Given the description of an element on the screen output the (x, y) to click on. 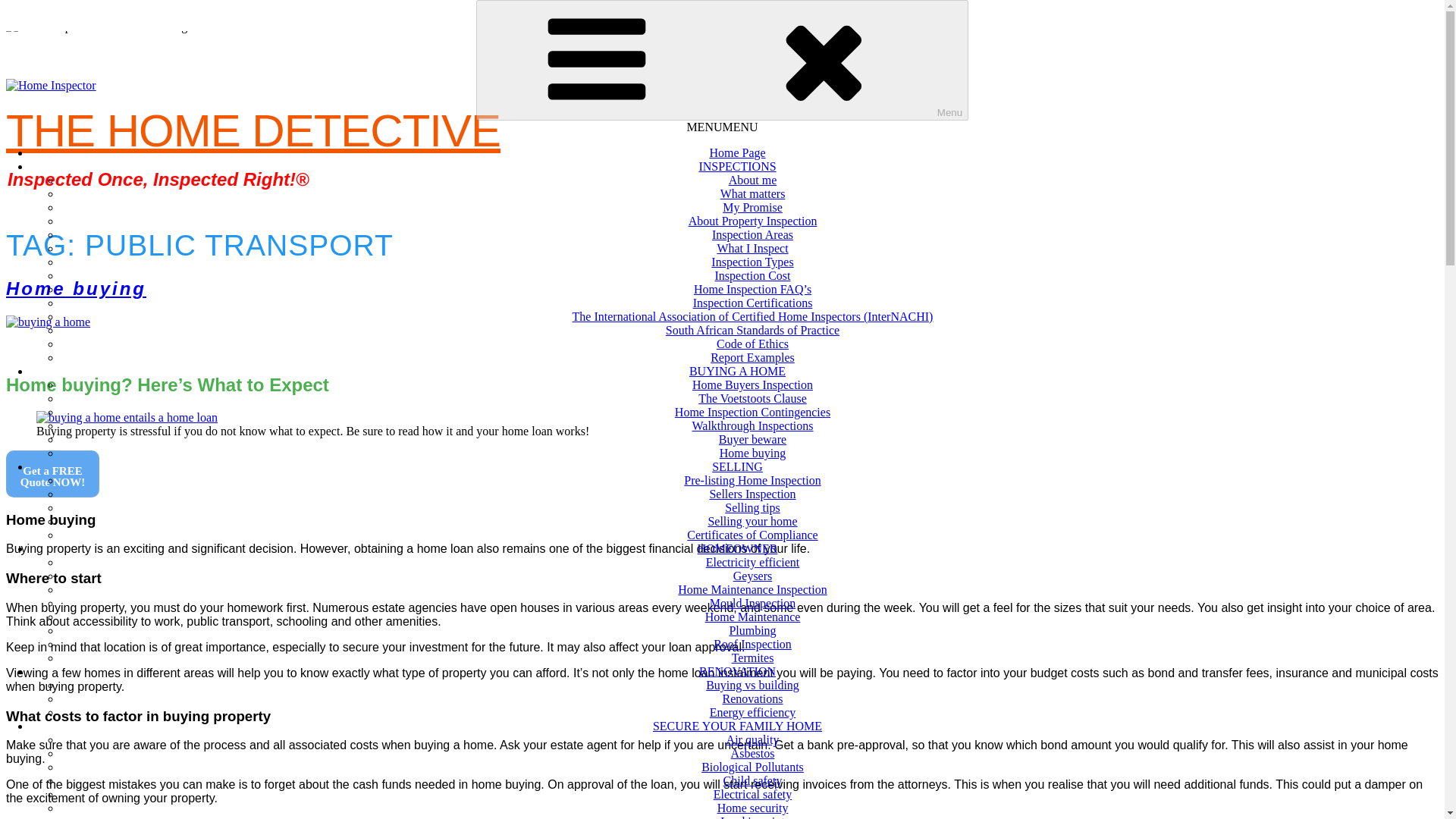
Buyer beware (752, 439)
Inspection Types (752, 261)
South African Standards of Practice (752, 329)
Home Page (737, 152)
Menu (722, 60)
SELLING (736, 466)
Selling your home (751, 521)
Walkthrough Inspections (751, 425)
Mould Inspection (752, 603)
Pre-listing Home Inspection (752, 480)
What I Inspect (751, 247)
Home Buyers Inspection (752, 384)
Certificates of Compliance (751, 534)
Home Maintenance (752, 616)
Home Maintenance Inspection (752, 589)
